Given the description of an element on the screen output the (x, y) to click on. 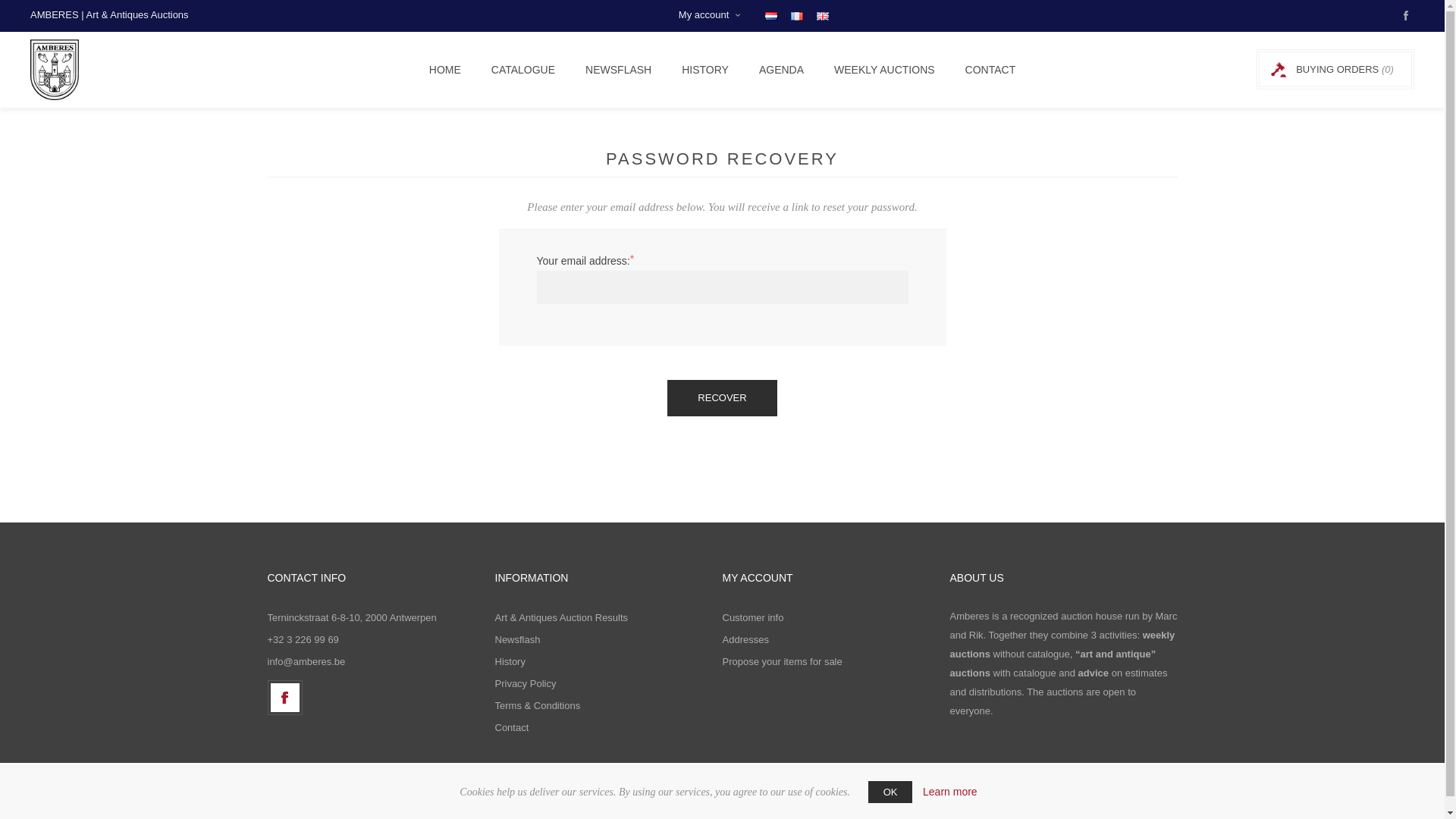
HOME (444, 69)
Addresses (745, 639)
CONTACT (990, 69)
WEEKLY AUCTIONS (884, 69)
English (822, 16)
HISTORY (705, 69)
History (509, 661)
English (822, 15)
nopCommerce (884, 808)
Cuberdon (818, 808)
